Given the description of an element on the screen output the (x, y) to click on. 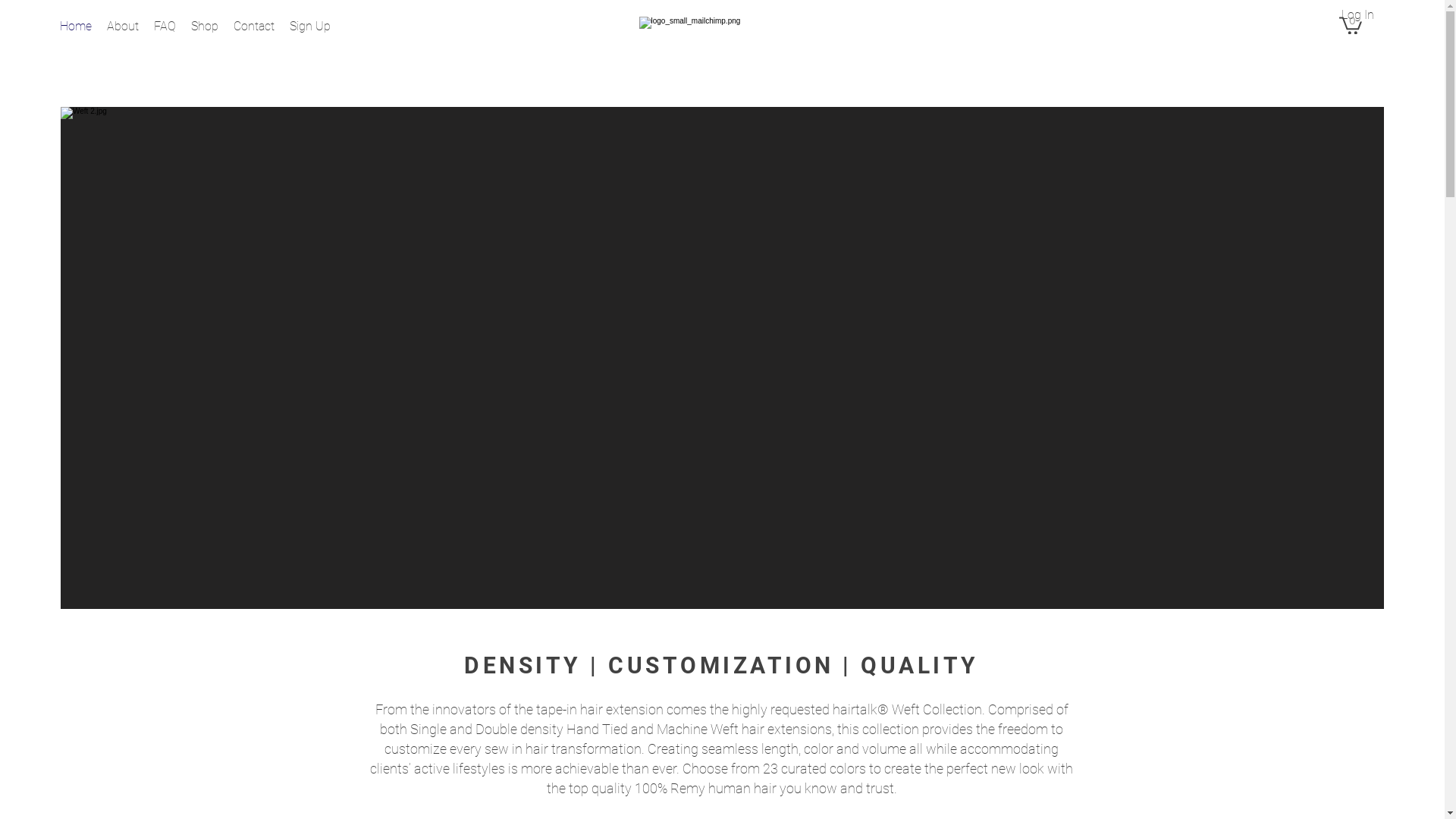
Contact Element type: text (287, 70)
Contact Element type: text (253, 26)
Home Element type: text (104, 70)
Shop Element type: text (237, 70)
Sign Up Element type: text (310, 26)
Sign Up Element type: text (343, 70)
About Element type: text (152, 70)
About Element type: text (122, 26)
Shop Element type: text (204, 26)
Home Element type: text (75, 26)
FAQ Element type: text (196, 70)
FAQ Element type: text (164, 26)
0 Element type: text (1350, 24)
Log In Element type: text (1356, 15)
